Given the description of an element on the screen output the (x, y) to click on. 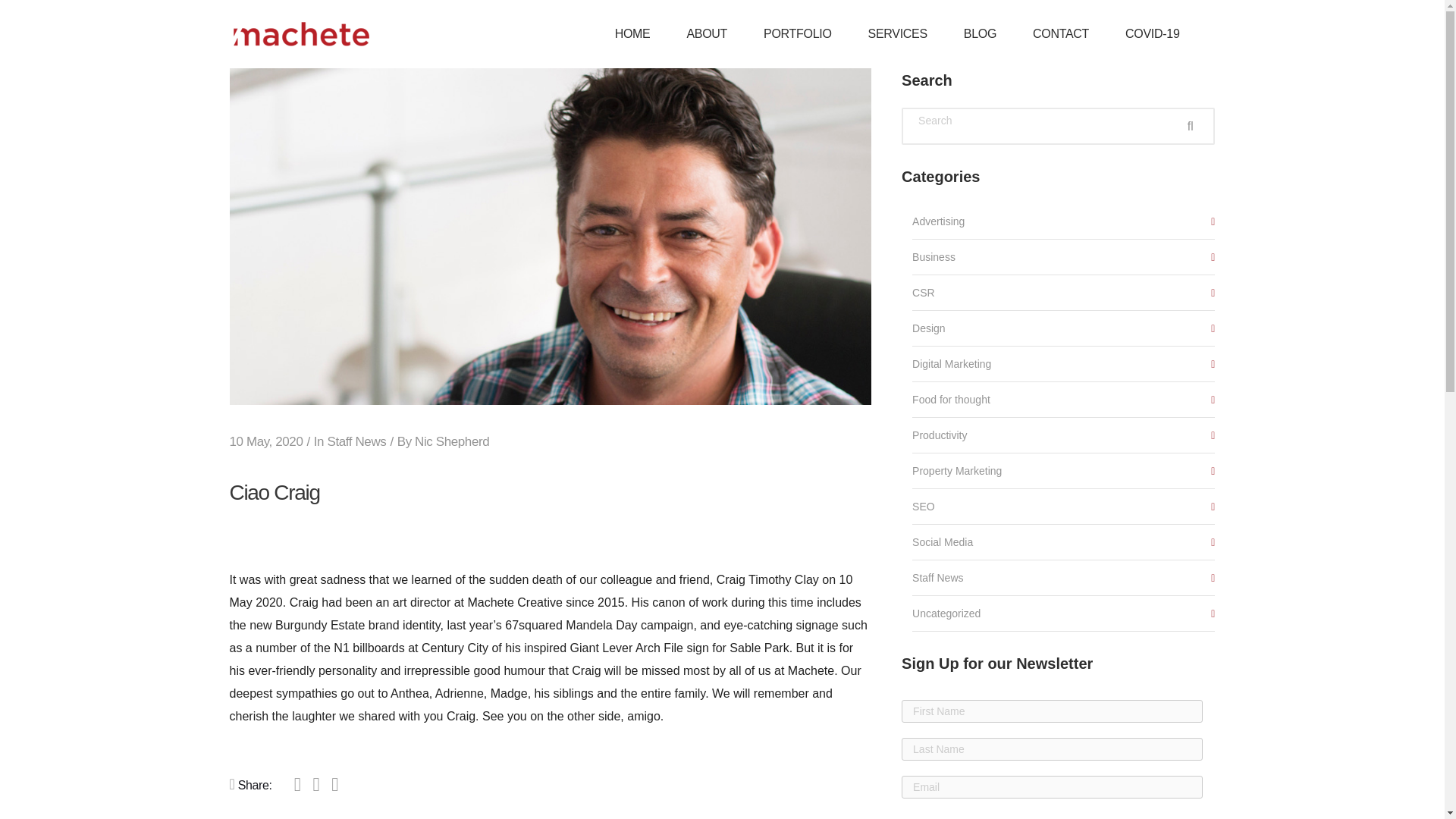
SERVICES (897, 33)
CONTACT (1060, 33)
Advertising (1063, 221)
Nic Shepherd (451, 441)
Design (1063, 328)
ABOUT (706, 33)
COVID-19 (1151, 33)
BLOG (979, 33)
Business (1063, 257)
PORTFOLIO (796, 33)
CSR (1063, 292)
Staff News (355, 441)
HOME (632, 33)
